Given the description of an element on the screen output the (x, y) to click on. 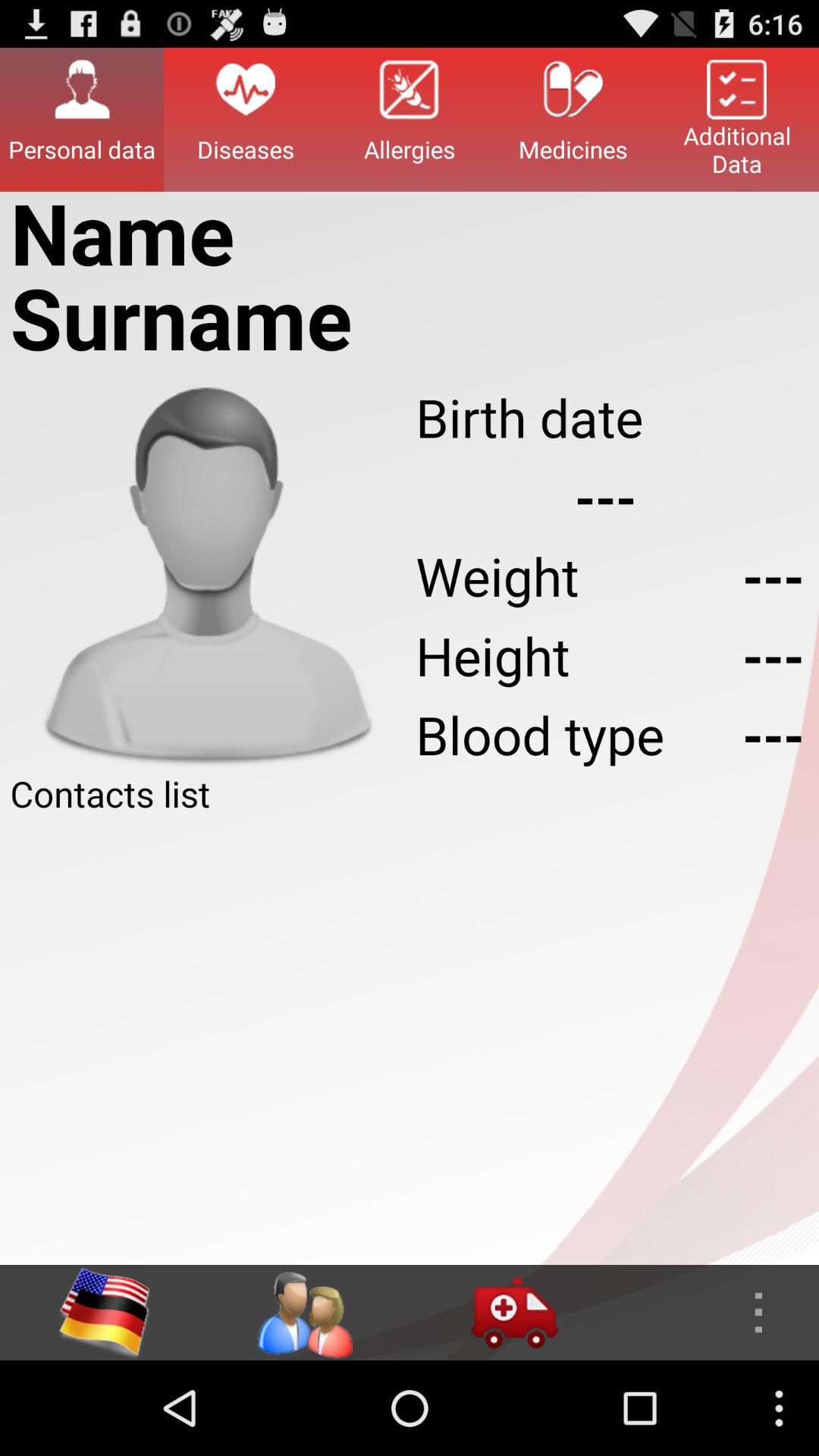
emergency button (514, 1312)
